Given the description of an element on the screen output the (x, y) to click on. 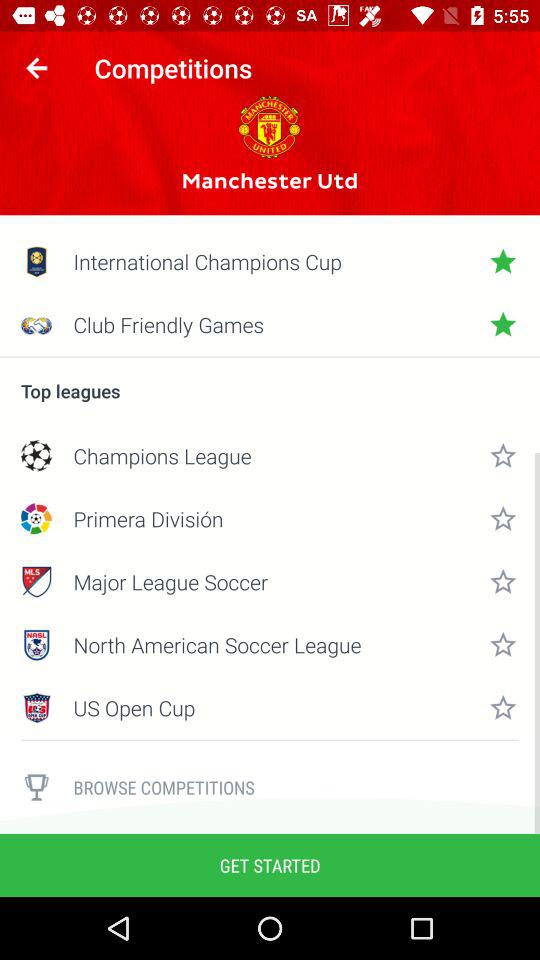
jump until the top leagues icon (270, 390)
